Given the description of an element on the screen output the (x, y) to click on. 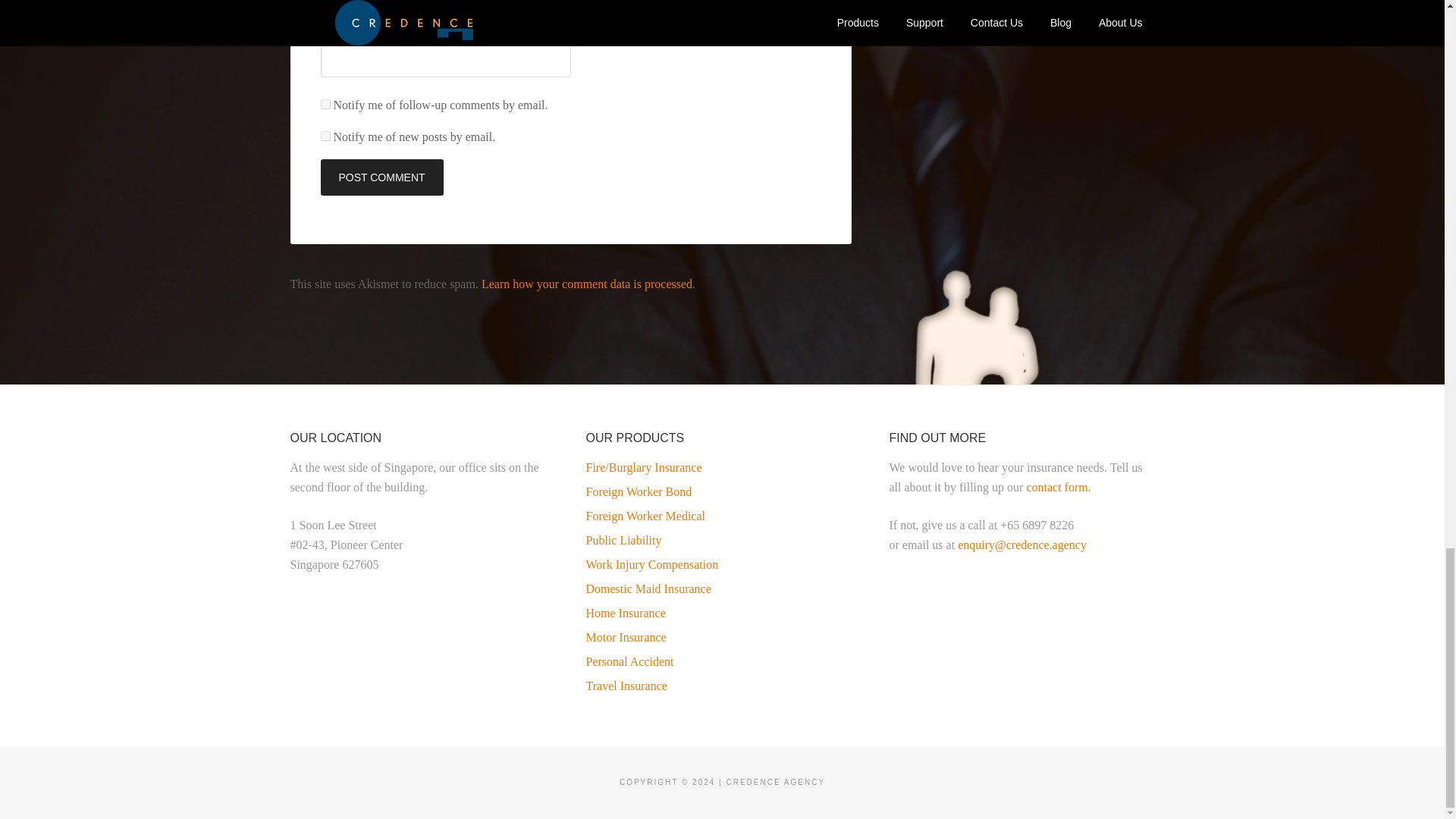
Post Comment (381, 176)
subscribe (325, 103)
Learn how your comment data is processed (587, 283)
Post Comment (381, 176)
subscribe (325, 135)
